Given the description of an element on the screen output the (x, y) to click on. 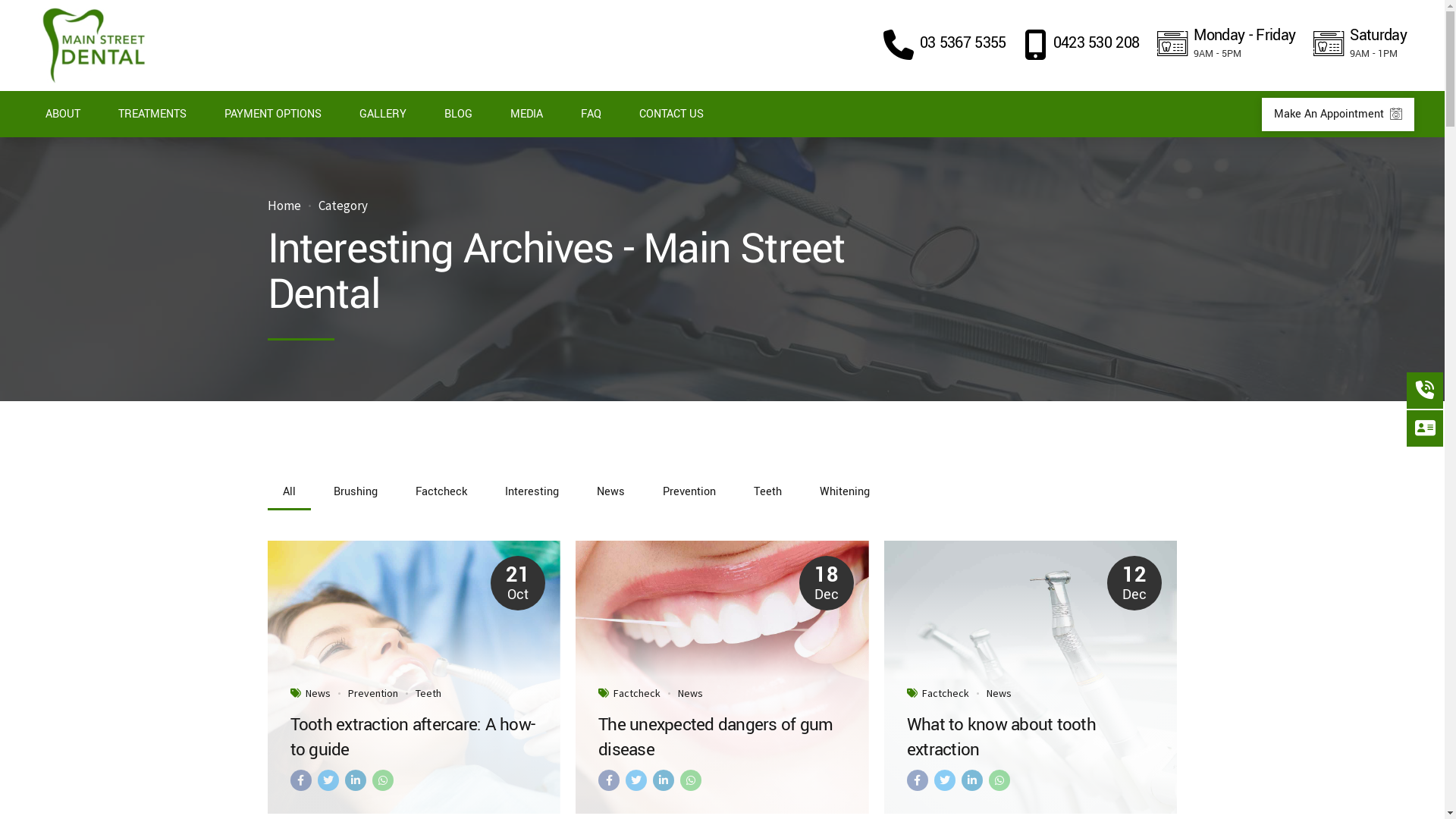
TREATMENTS Element type: text (152, 114)
News Element type: text (998, 693)
The unexpected dangers of gum disease Element type: text (722, 737)
CONTACT US Element type: text (671, 114)
Prevention Element type: text (372, 693)
0423 530 208 Element type: text (1081, 45)
FAQ Element type: text (590, 114)
What to know about tooth extraction Element type: text (1030, 737)
BLOG Element type: text (458, 114)
News Element type: text (316, 693)
News Element type: text (689, 693)
Make An Appointment Element type: text (1337, 114)
ABOUT Element type: text (62, 114)
MEDIA Element type: text (526, 114)
03 5367 5355 Element type: text (944, 45)
PAYMENT OPTIONS Element type: text (272, 114)
Tooth extraction aftercare: A how-to guide Element type: text (413, 737)
Teeth Element type: text (428, 693)
Factcheck Element type: text (636, 693)
GALLERY Element type: text (382, 114)
Factcheck Element type: text (945, 693)
Home Element type: text (283, 205)
